Given the description of an element on the screen output the (x, y) to click on. 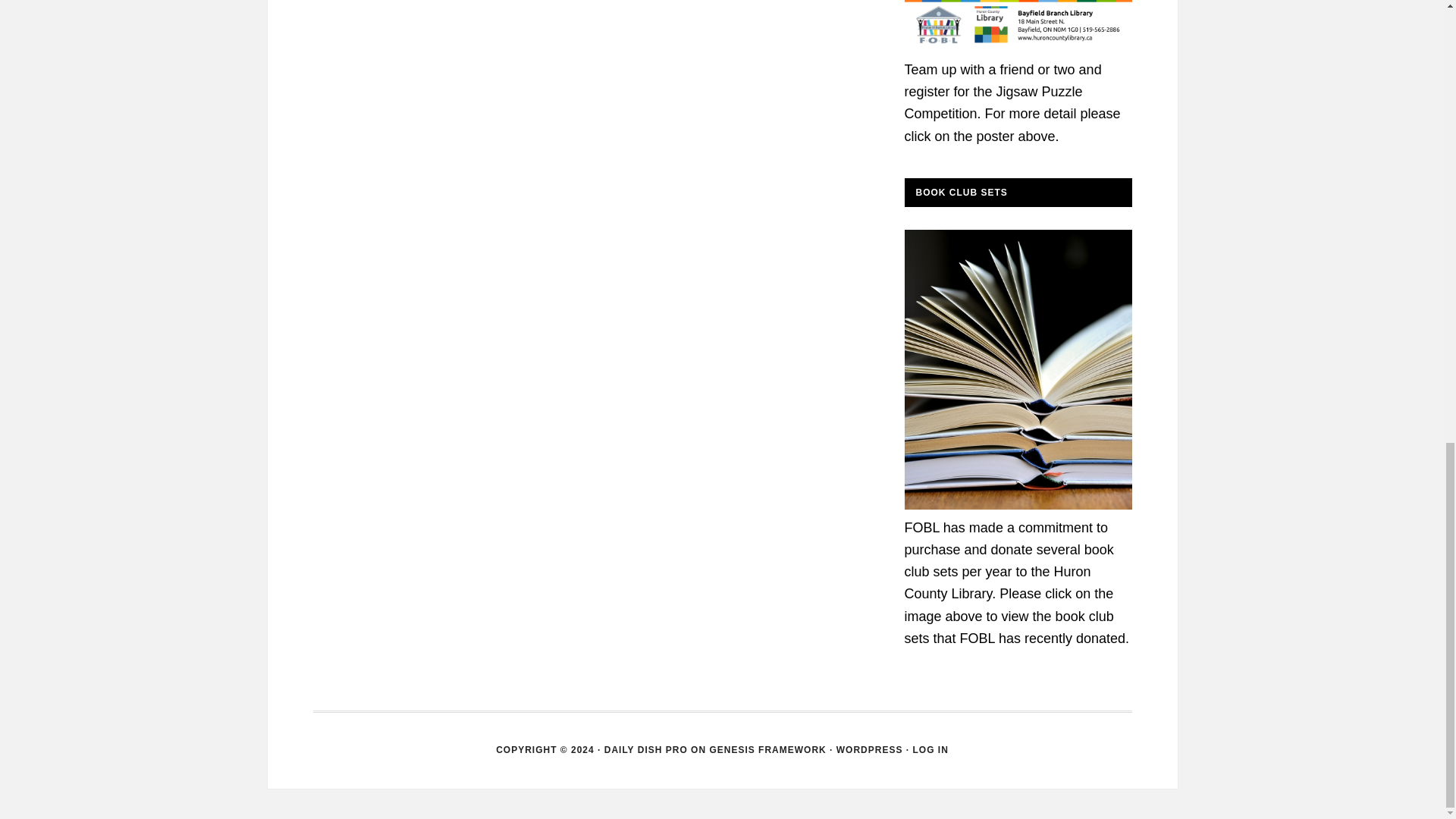
Book Club Sets (1017, 504)
GENESIS FRAMEWORK (767, 749)
WORDPRESS (868, 749)
LOG IN (929, 749)
DAILY DISH PRO (645, 749)
